Given the description of an element on the screen output the (x, y) to click on. 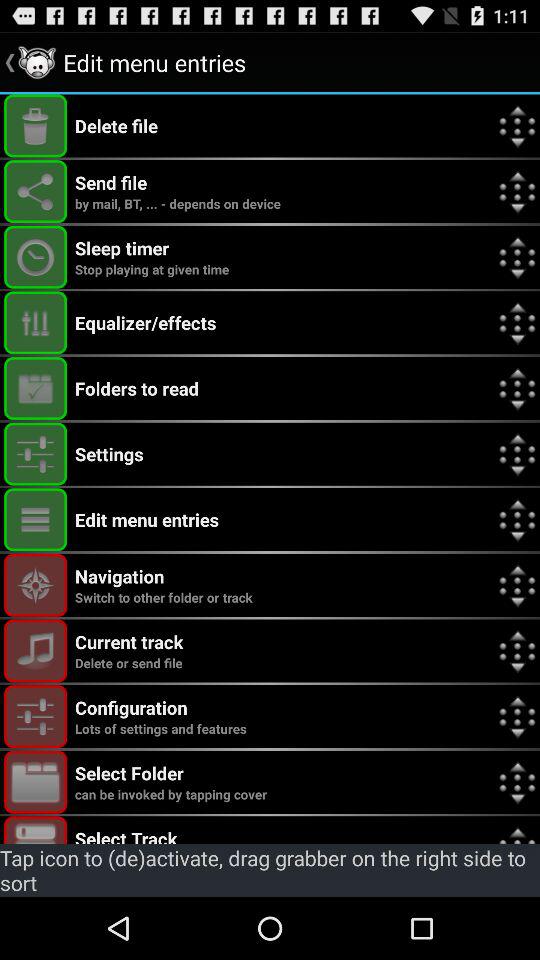
select the navigation (35, 584)
